Given the description of an element on the screen output the (x, y) to click on. 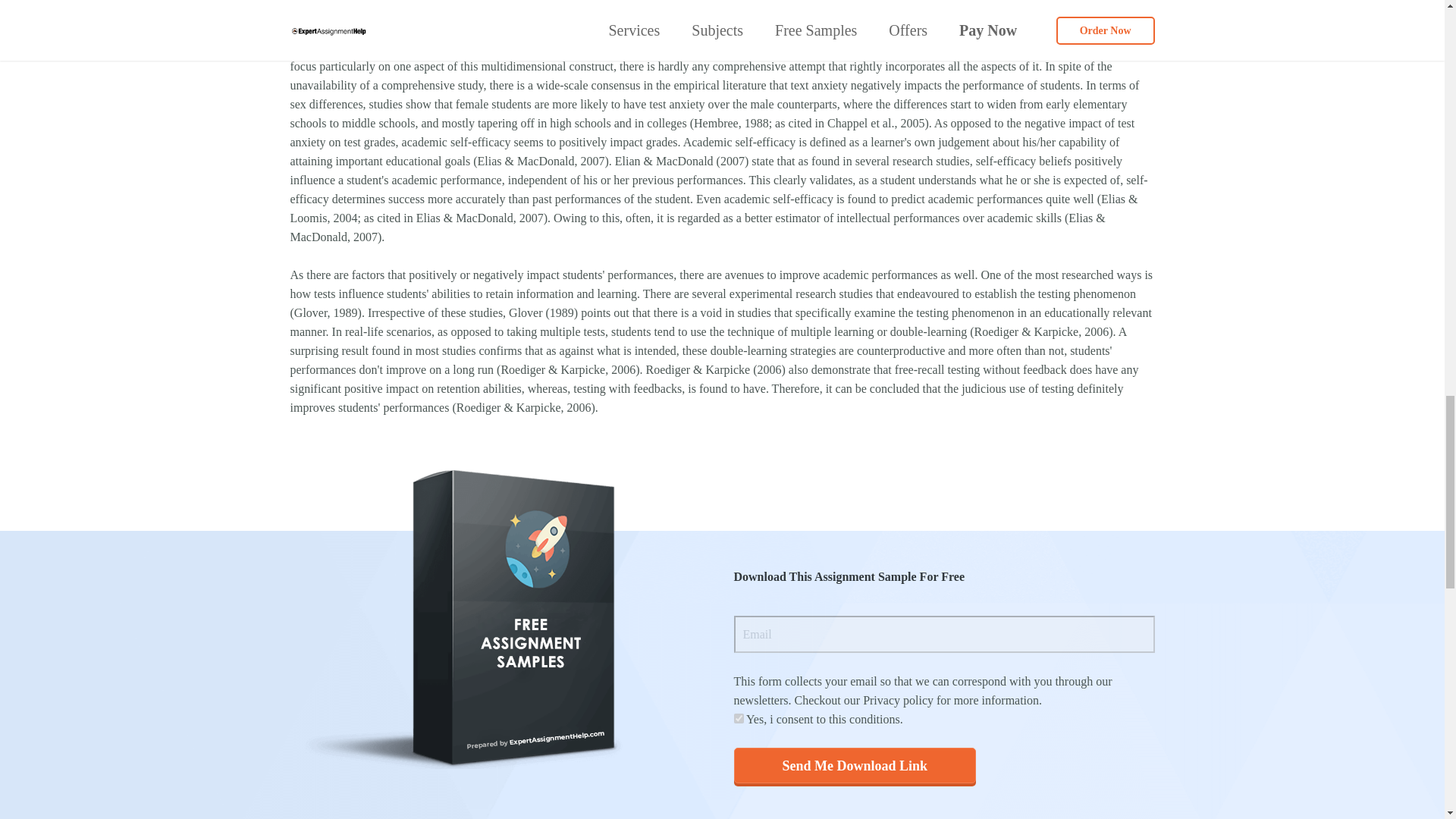
Send Me Download Link (854, 764)
Yes, i consent to this conditions. (738, 718)
